Given the description of an element on the screen output the (x, y) to click on. 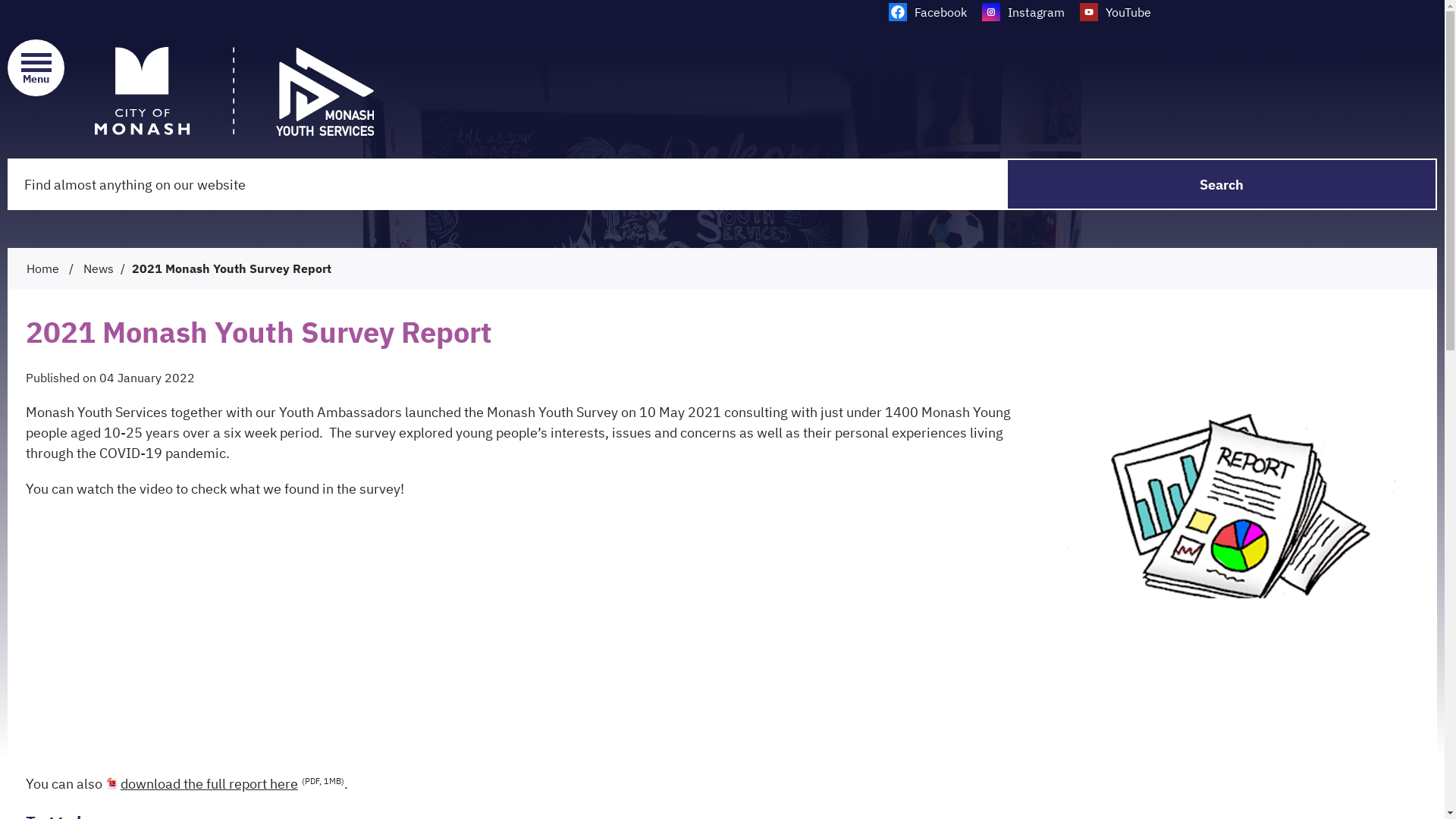
YouTube video player Element type: hover (237, 633)
download the full report here(PDF, 1MB) Element type: text (224, 783)
Open side
Menu Element type: text (35, 68)
Search Element type: text (1221, 184)
YouTube Element type: text (1115, 11)
Home Element type: text (42, 268)
Instagram Element type: text (1022, 11)
Home - City of Monash - Logo Element type: text (233, 91)
News Element type: text (98, 268)
Facebook Element type: text (927, 11)
